Given the description of an element on the screen output the (x, y) to click on. 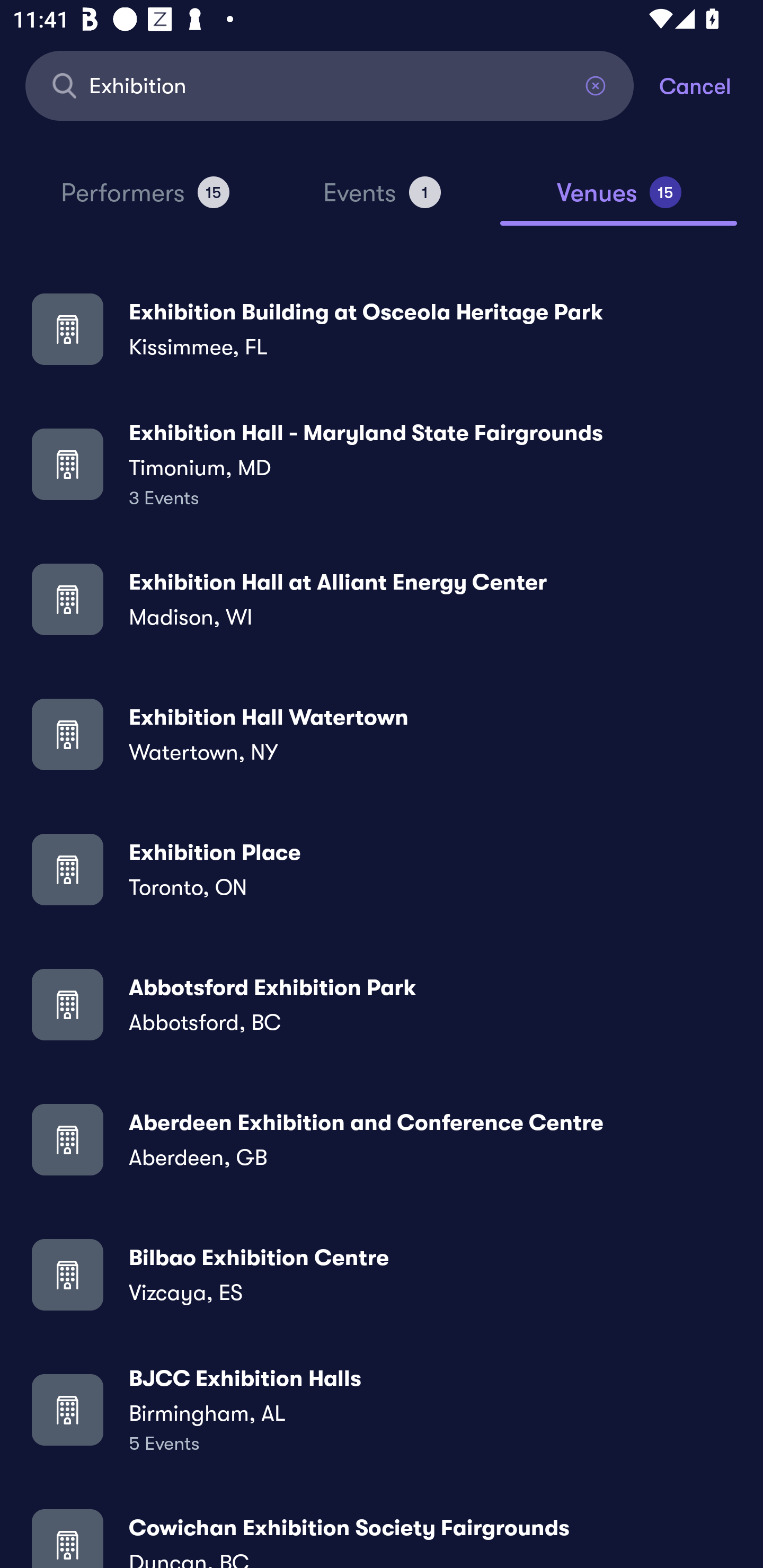
Exhibition Find (329, 85)
Exhibition Find (329, 85)
Cancel (711, 85)
Performers 15 (144, 200)
Events 1 (381, 200)
Venues 15 (618, 200)
Exhibition Hall Watertown Watertown, NY (381, 734)
Exhibition Place Toronto, ON (381, 869)
Abbotsford Exhibition Park Abbotsford, BC (381, 1004)
Bilbao Exhibition Centre Vizcaya, ES (381, 1273)
BJCC Exhibition Halls Birmingham, AL 5 Events (381, 1409)
Cowichan Exhibition Society Fairgrounds Duncan, BC (381, 1532)
